Given the description of an element on the screen output the (x, y) to click on. 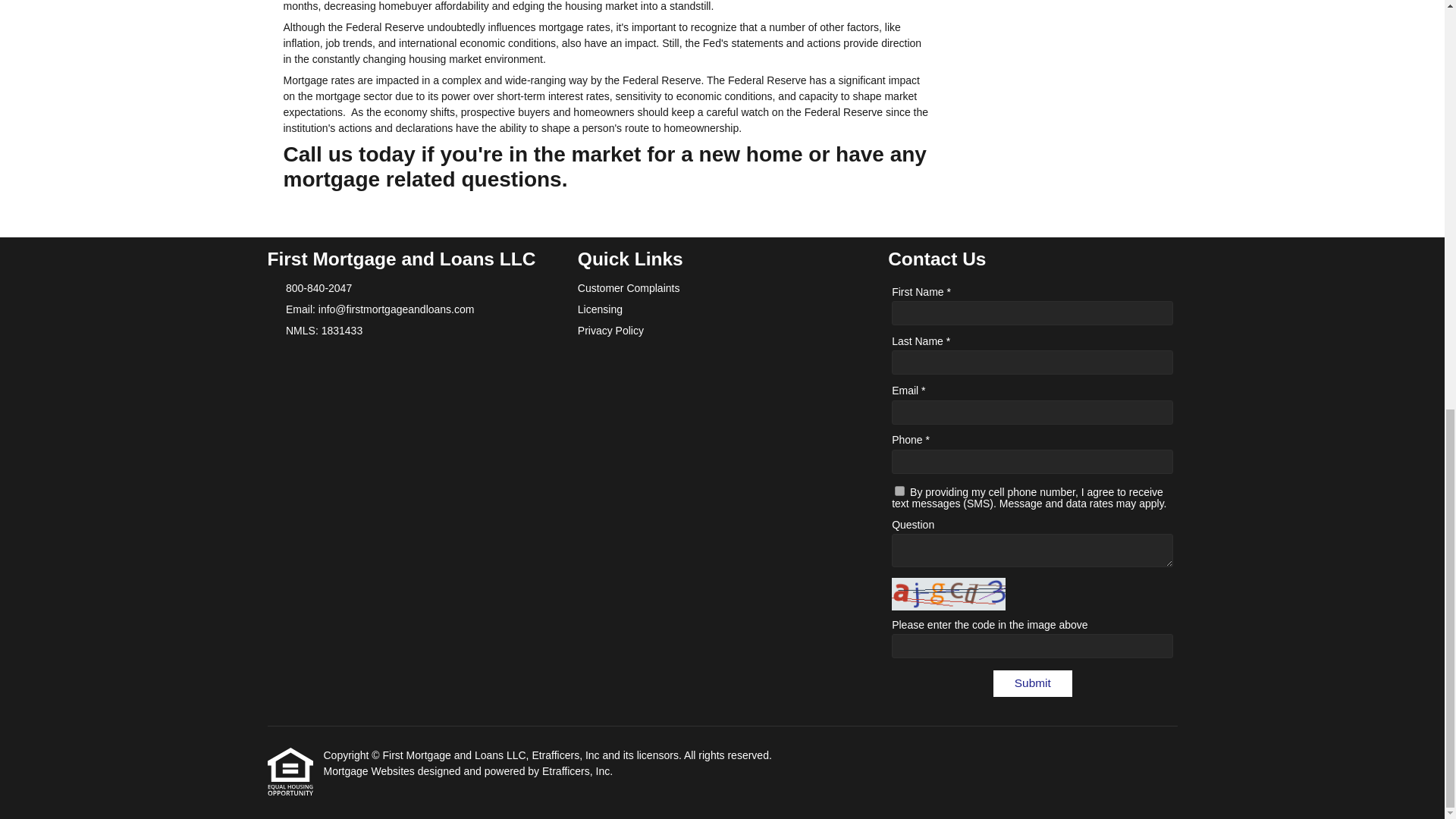
yes (899, 491)
